Given the description of an element on the screen output the (x, y) to click on. 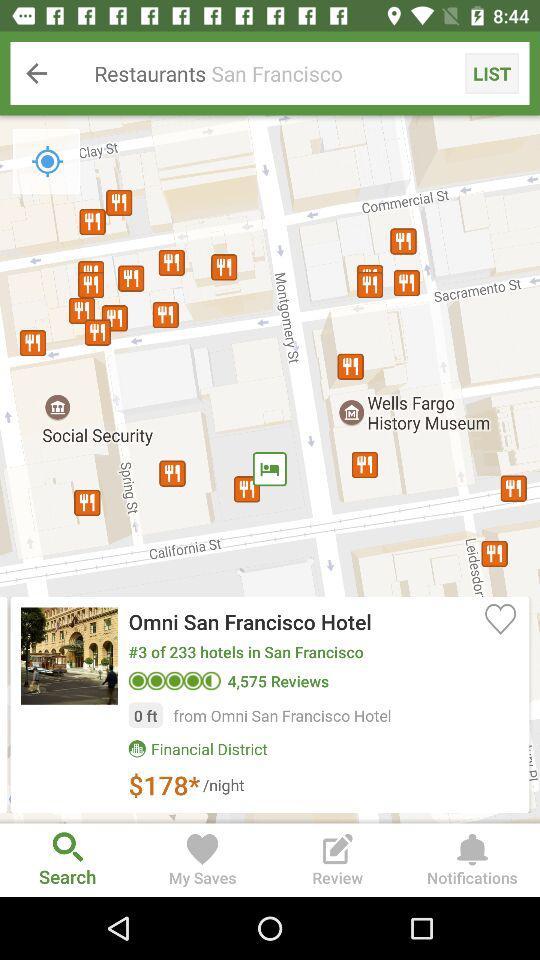
turn on the icon above the search icon (270, 469)
